Given the description of an element on the screen output the (x, y) to click on. 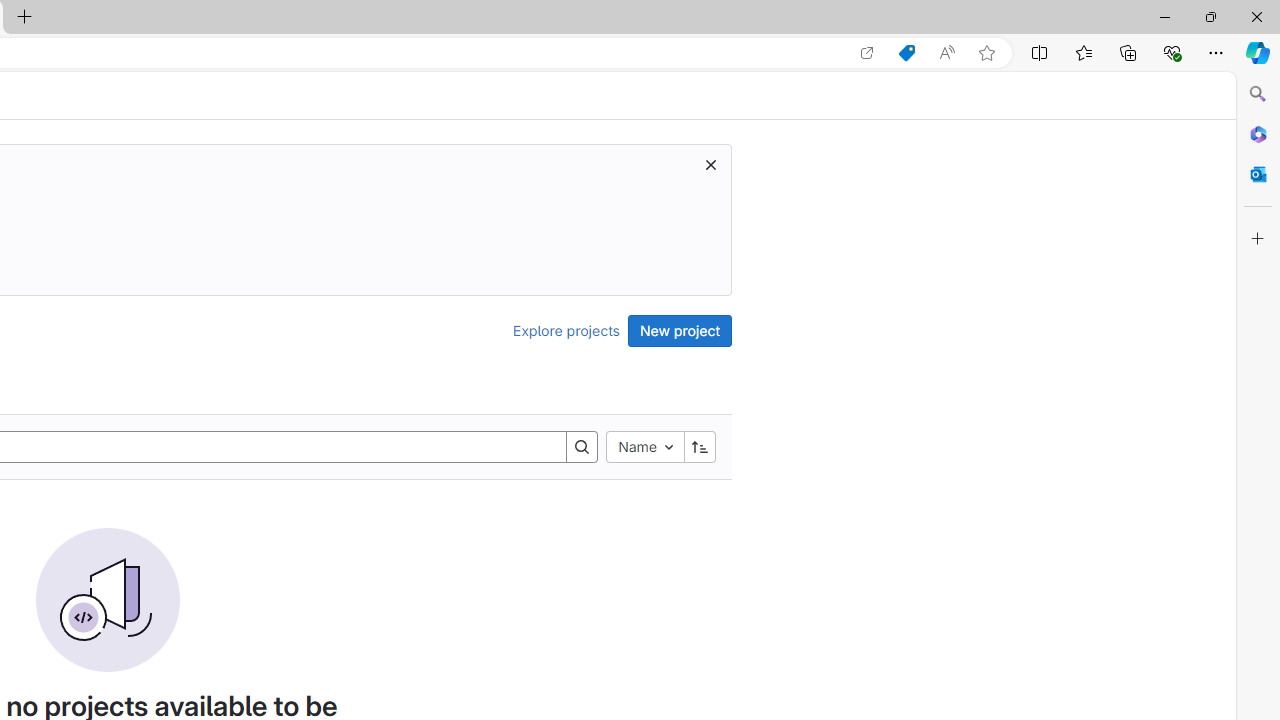
New project (680, 330)
Sort direction: Ascending (699, 445)
Dismiss trial promotion (710, 164)
Open in app (867, 53)
Name (644, 445)
Class: s16 gl-icon gl-button-icon  (710, 164)
